Given the description of an element on the screen output the (x, y) to click on. 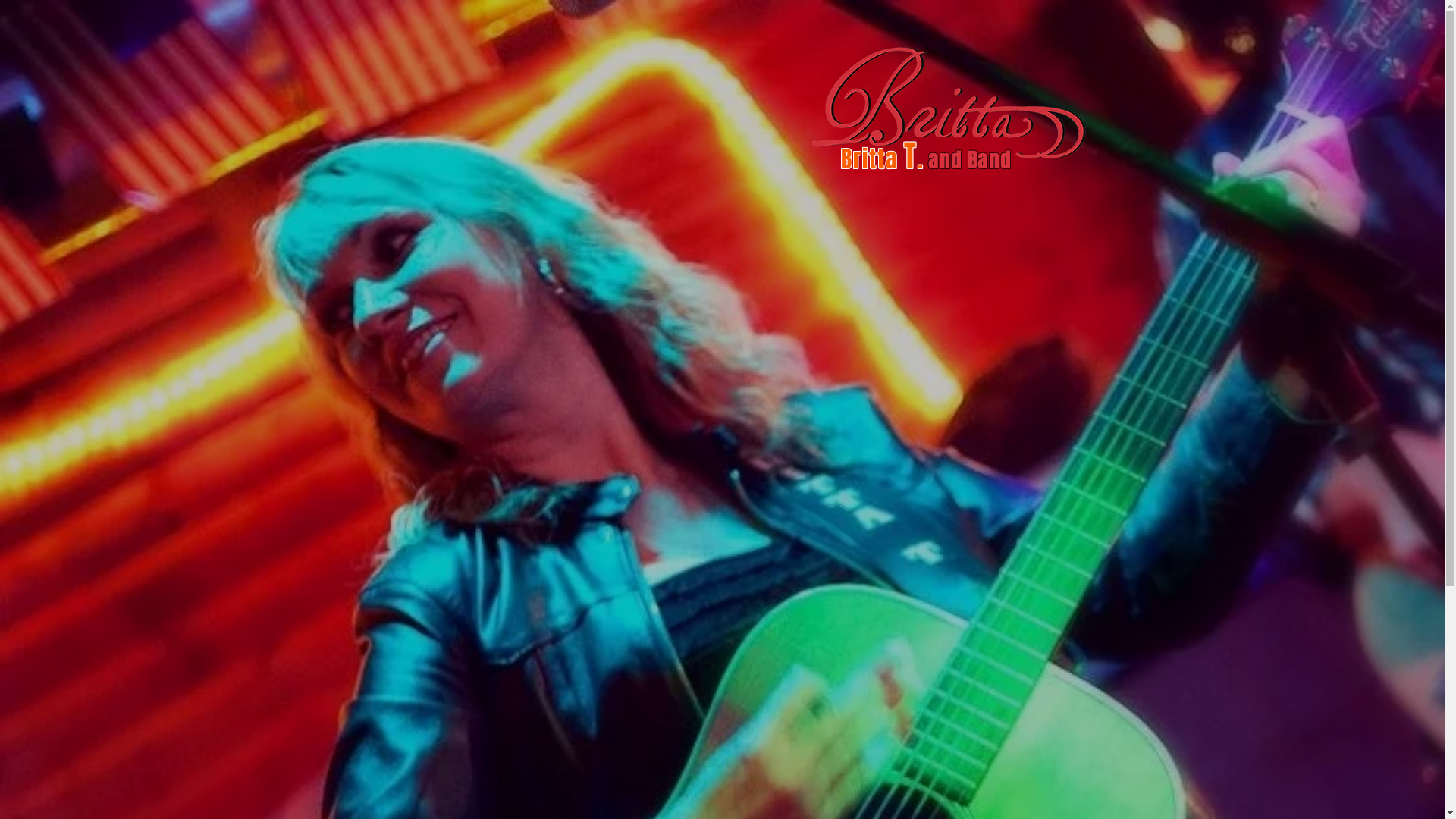
T. Element type: text (913, 159)
  Element type: text (925, 161)
Britta Element type: text (868, 158)
and Band Element type: text (969, 160)
